Given the description of an element on the screen output the (x, y) to click on. 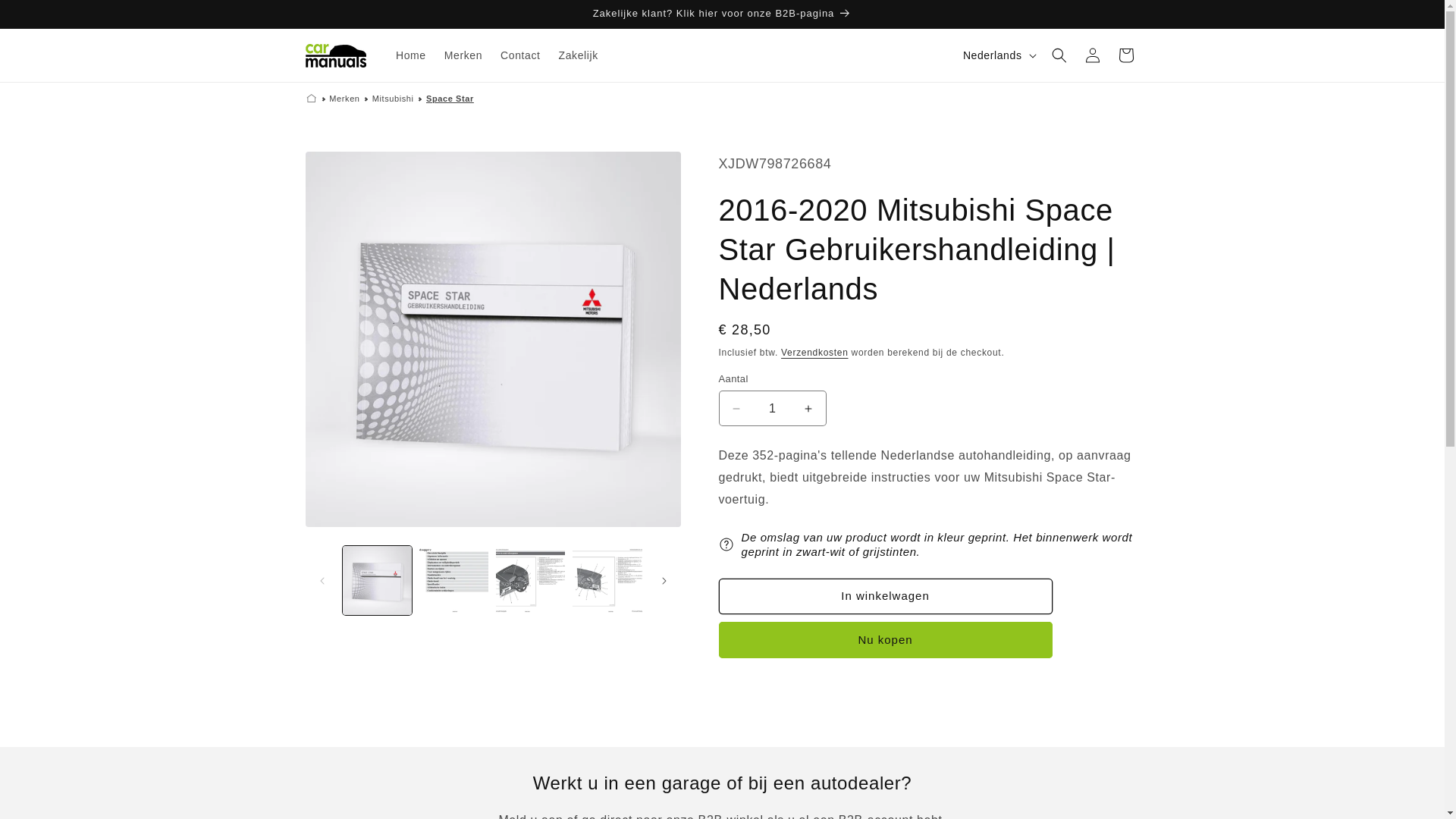
Ga direct naar productinformatie Element type: text (350, 168)
Space Star Element type: text (448, 98)
In winkelwagen Element type: text (885, 596)
Merken Element type: text (463, 55)
Zakelijke klant? Klik hier voor onze B2B-pagina Element type: text (721, 14)
Mitsubishi Element type: text (393, 98)
Inloggen Element type: text (1091, 55)
Winkelwagen Element type: text (1125, 55)
Home Element type: text (410, 55)
Nederlands Element type: text (997, 54)
Nu kopen Element type: text (885, 639)
Verzendkosten Element type: text (814, 352)
Merken Element type: text (342, 98)
Contact Element type: text (520, 55)
Zakelijk Element type: text (577, 55)
